Given the description of an element on the screen output the (x, y) to click on. 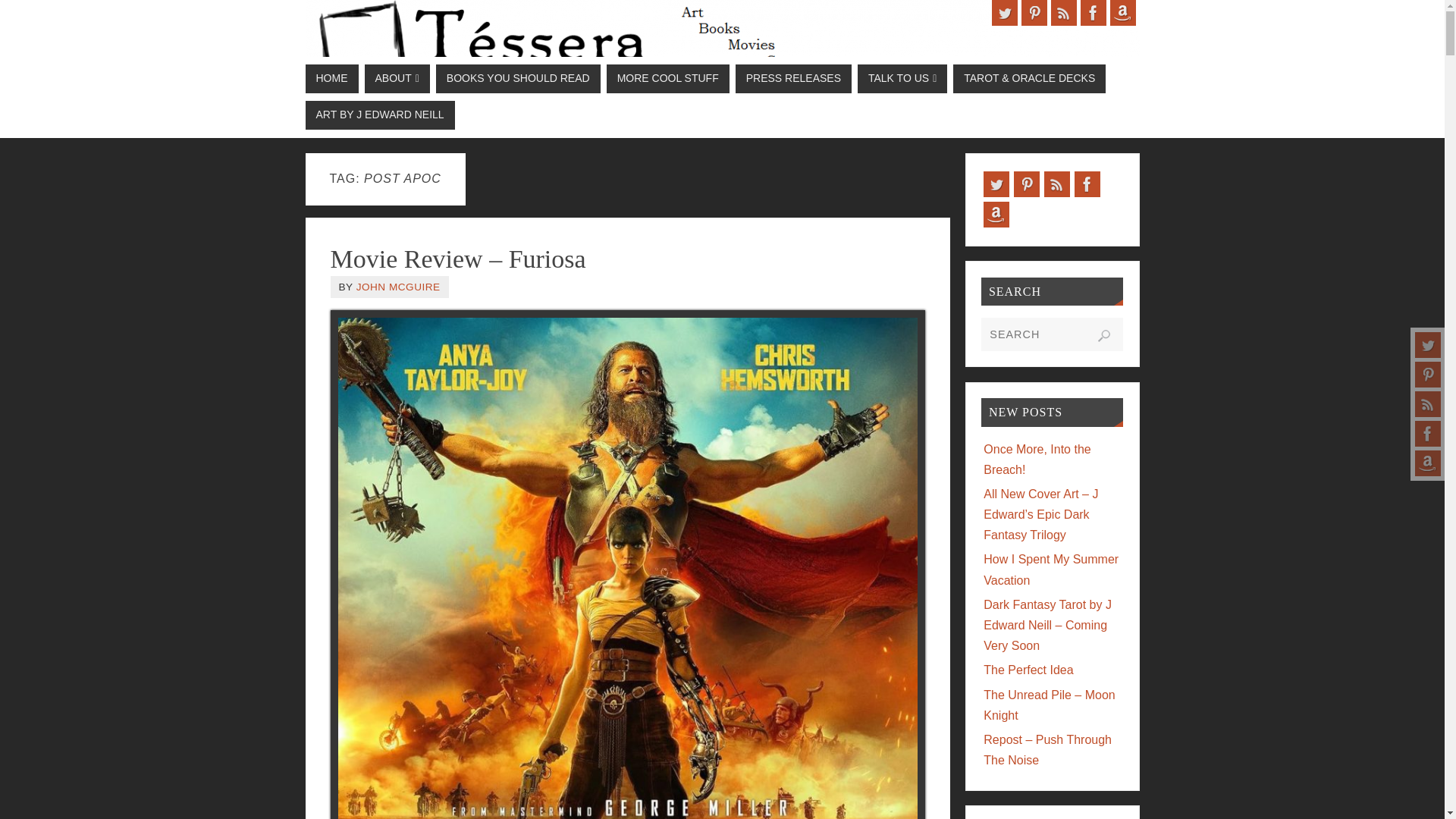
HOME (331, 78)
View all posts by John McGuire (398, 286)
Amazon (1428, 462)
RSS (1064, 12)
RSS (1428, 403)
Twitter (1004, 12)
Pinterest (1428, 374)
Twitter (1428, 344)
Facebook (1428, 433)
ART BY J EDWARD NEILL (379, 114)
TALK TO US (902, 78)
MORE COOL STUFF (668, 78)
BOOKS YOU SHOULD READ (517, 78)
Pinterest (1033, 12)
JOHN MCGUIRE (398, 286)
